Given the description of an element on the screen output the (x, y) to click on. 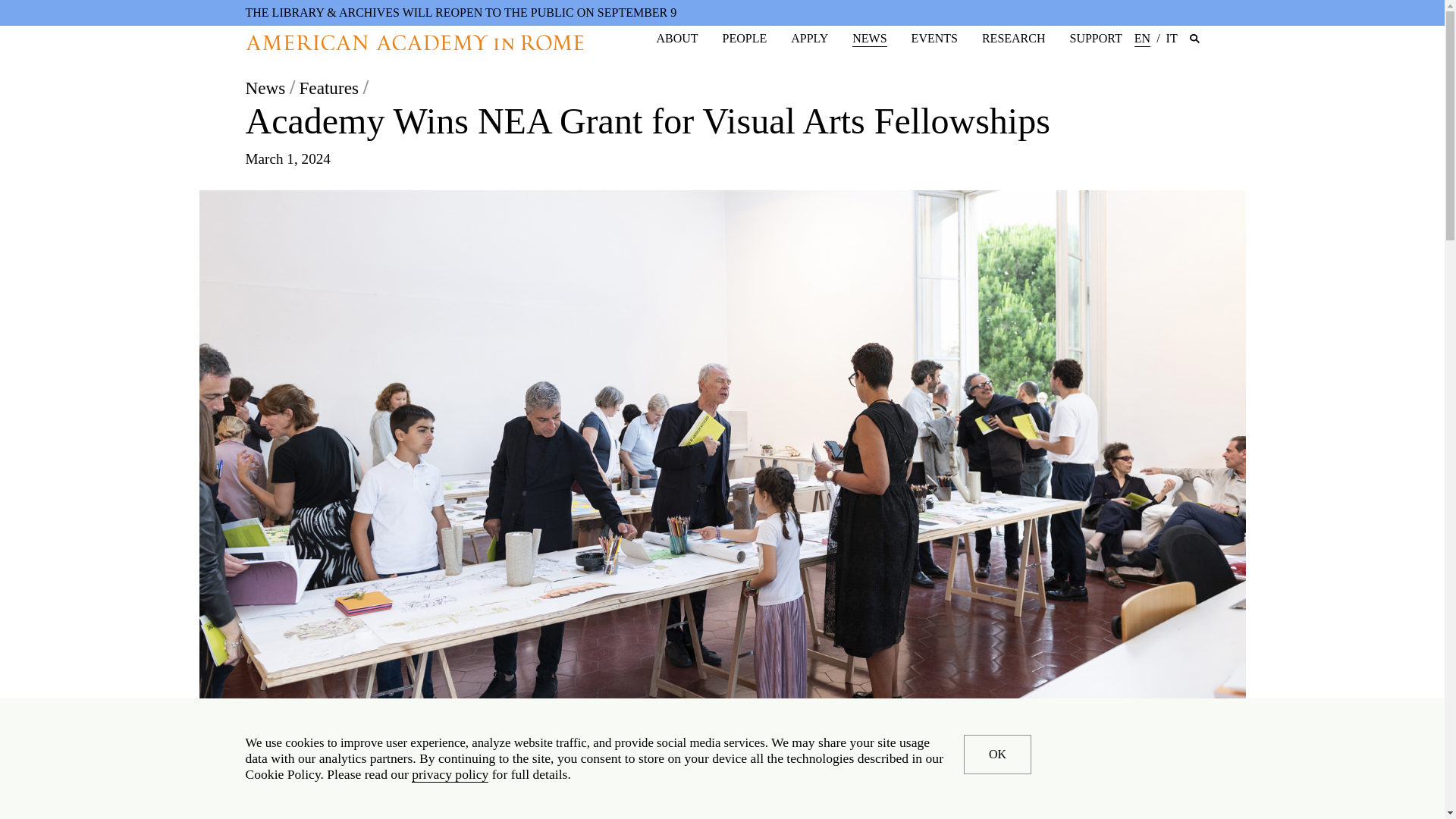
EN (1142, 38)
RESEARCH (1013, 38)
PEOPLE (744, 38)
ABOUT (676, 38)
APPLY (809, 38)
NEWS (868, 38)
Home (414, 42)
EVENTS (934, 38)
SUPPORT (1096, 38)
